Given the description of an element on the screen output the (x, y) to click on. 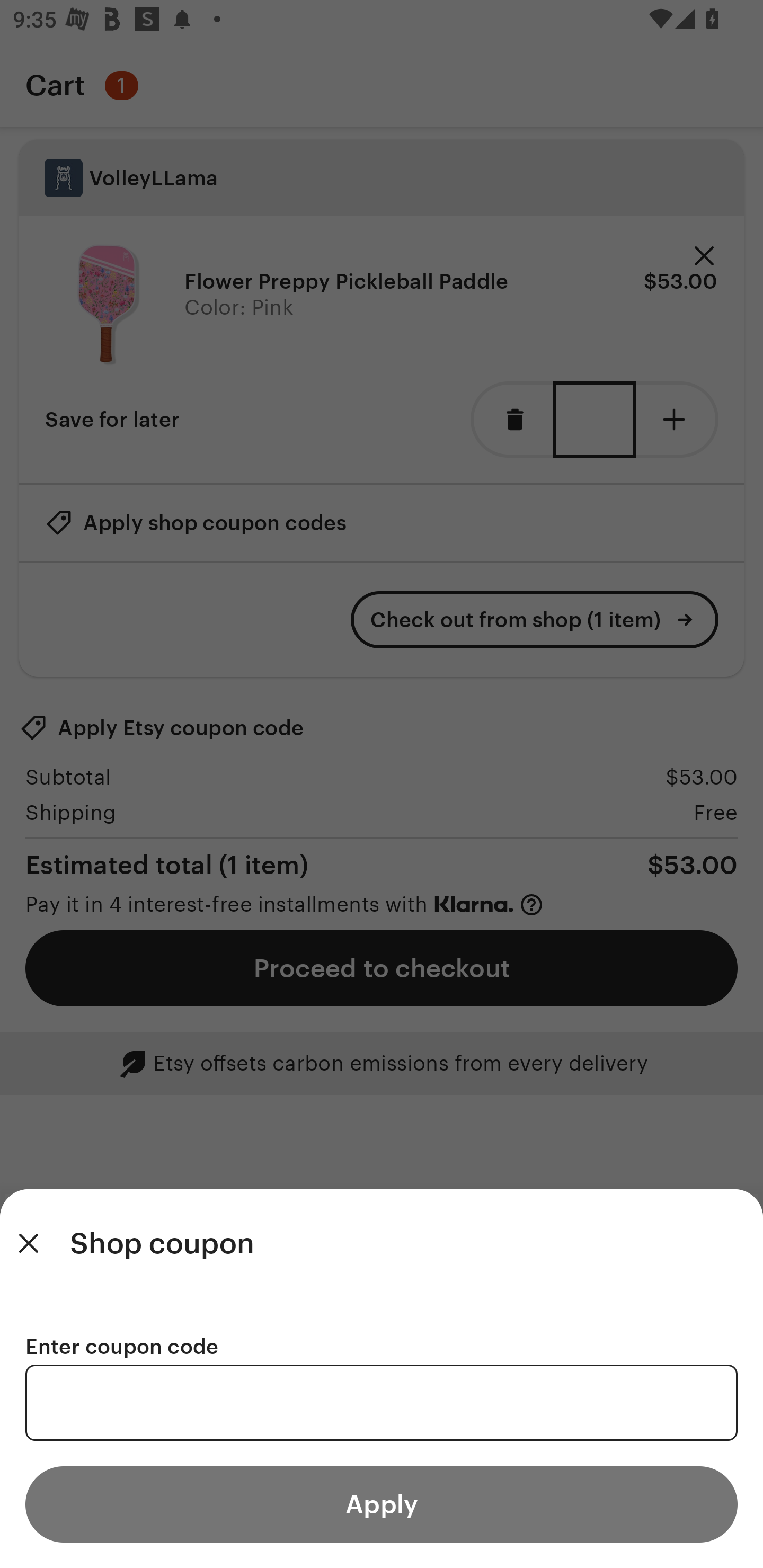
Apply (381, 1504)
